Given the description of an element on the screen output the (x, y) to click on. 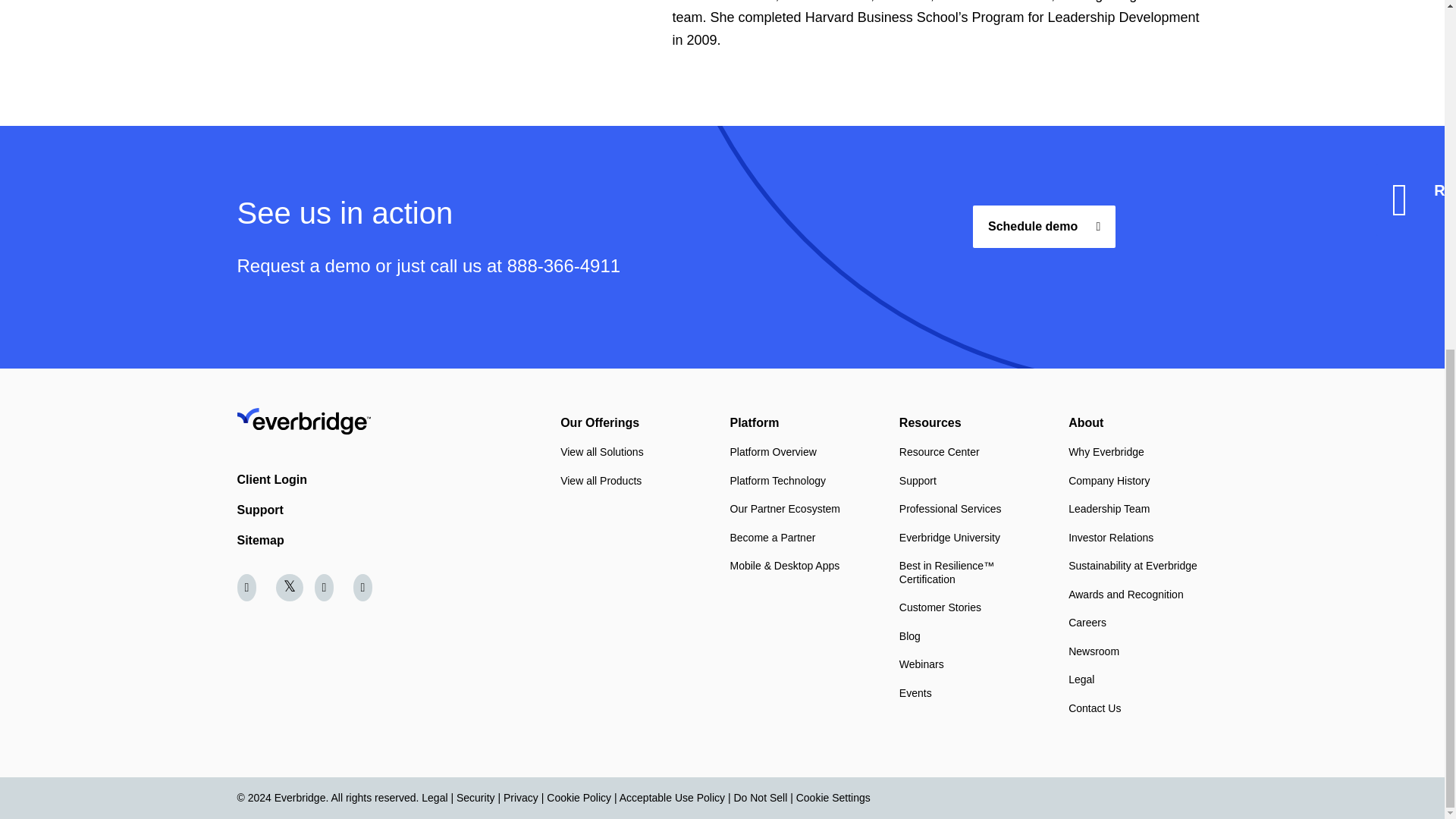
Everbridge (397, 420)
Twitter (289, 587)
Facebook (366, 587)
Youtube (327, 587)
Linkedin (249, 587)
